Given the description of an element on the screen output the (x, y) to click on. 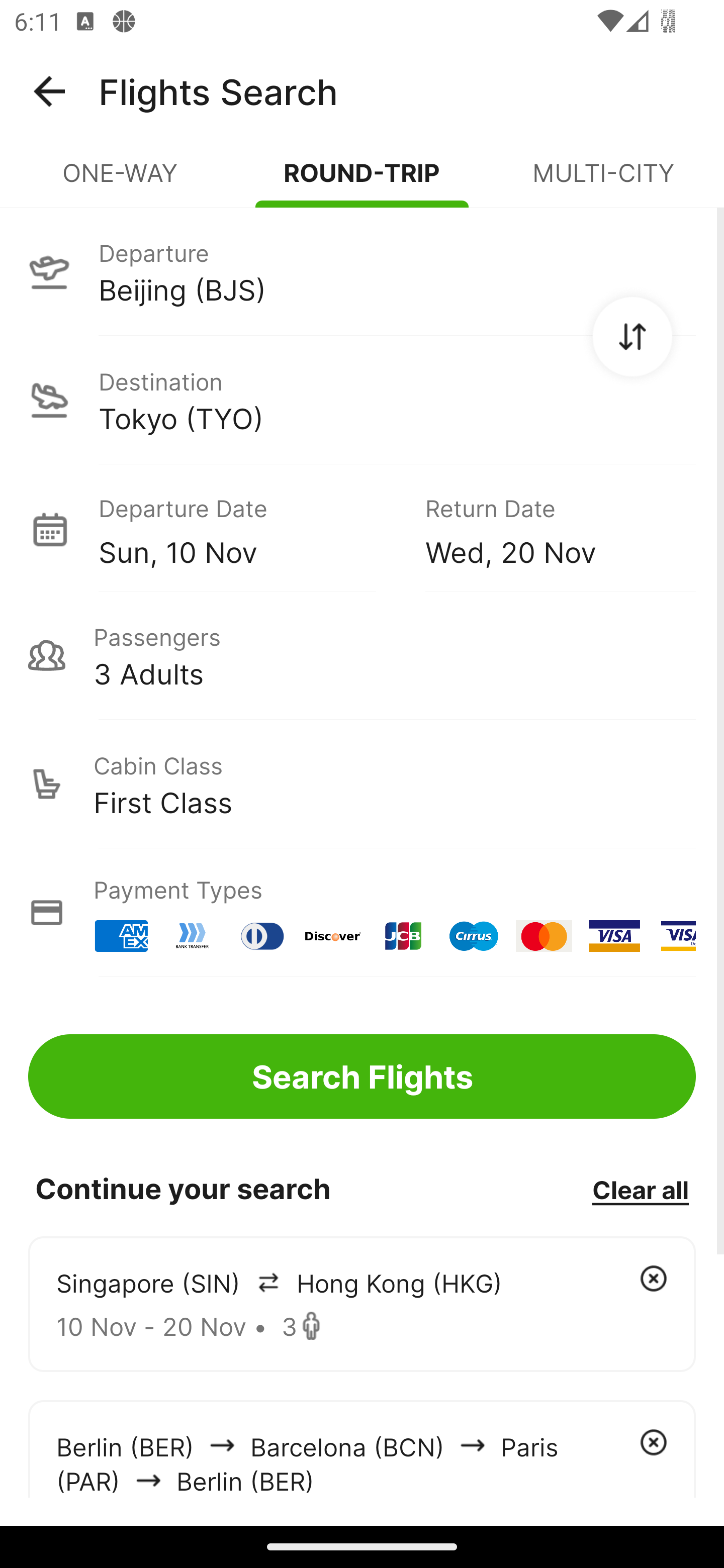
ONE-WAY (120, 180)
ROUND-TRIP (361, 180)
MULTI-CITY (603, 180)
Departure Beijing (BJS) (362, 270)
Destination Tokyo (TYO) (362, 400)
Departure Date Sun, 10 Nov (247, 528)
Return Date Wed, 20 Nov (546, 528)
Passengers 3 Adults (362, 655)
Cabin Class First Class (362, 783)
Payment Types (362, 912)
Search Flights (361, 1075)
Clear all (640, 1189)
